Given the description of an element on the screen output the (x, y) to click on. 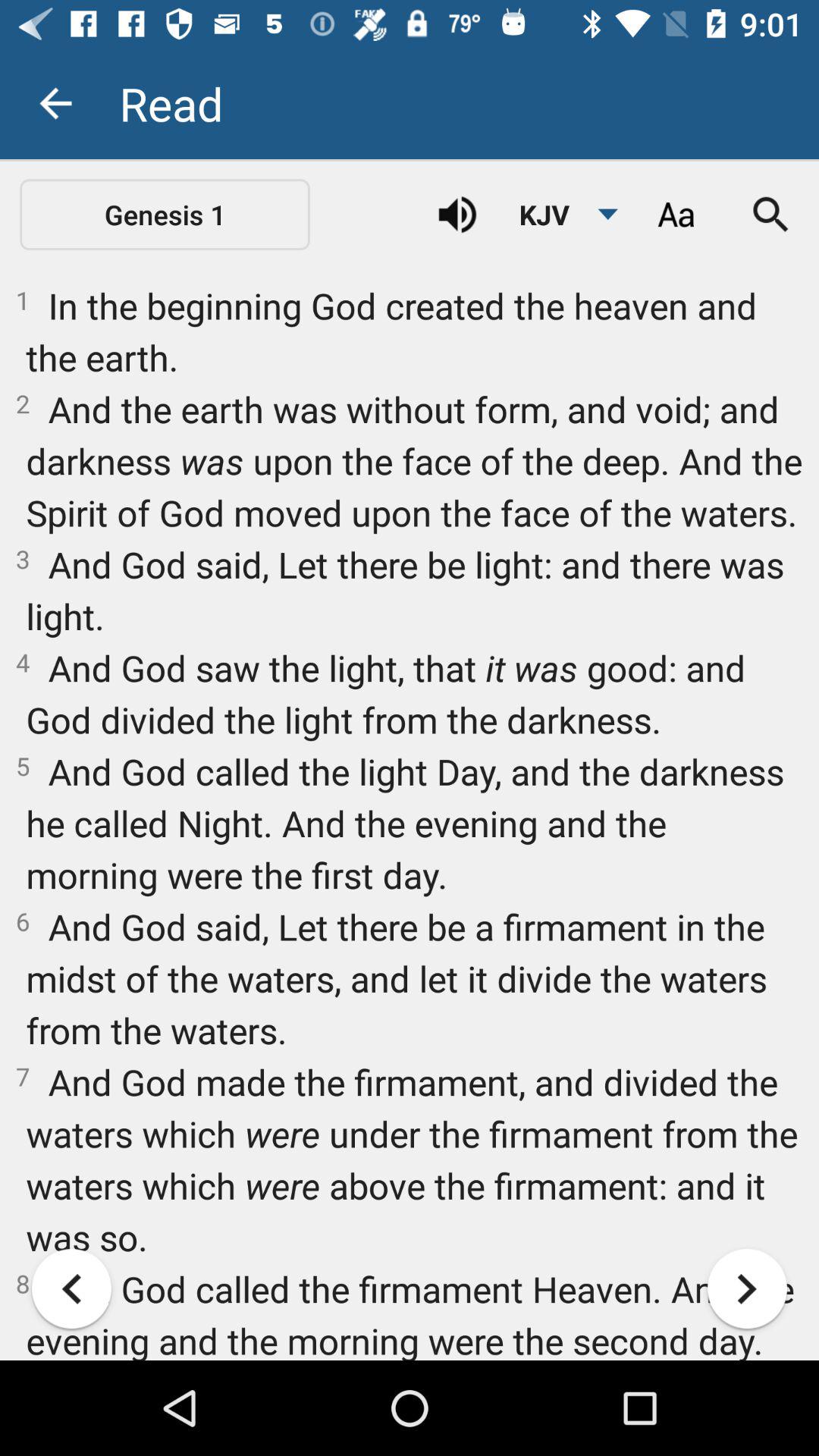
sound button (457, 214)
